Given the description of an element on the screen output the (x, y) to click on. 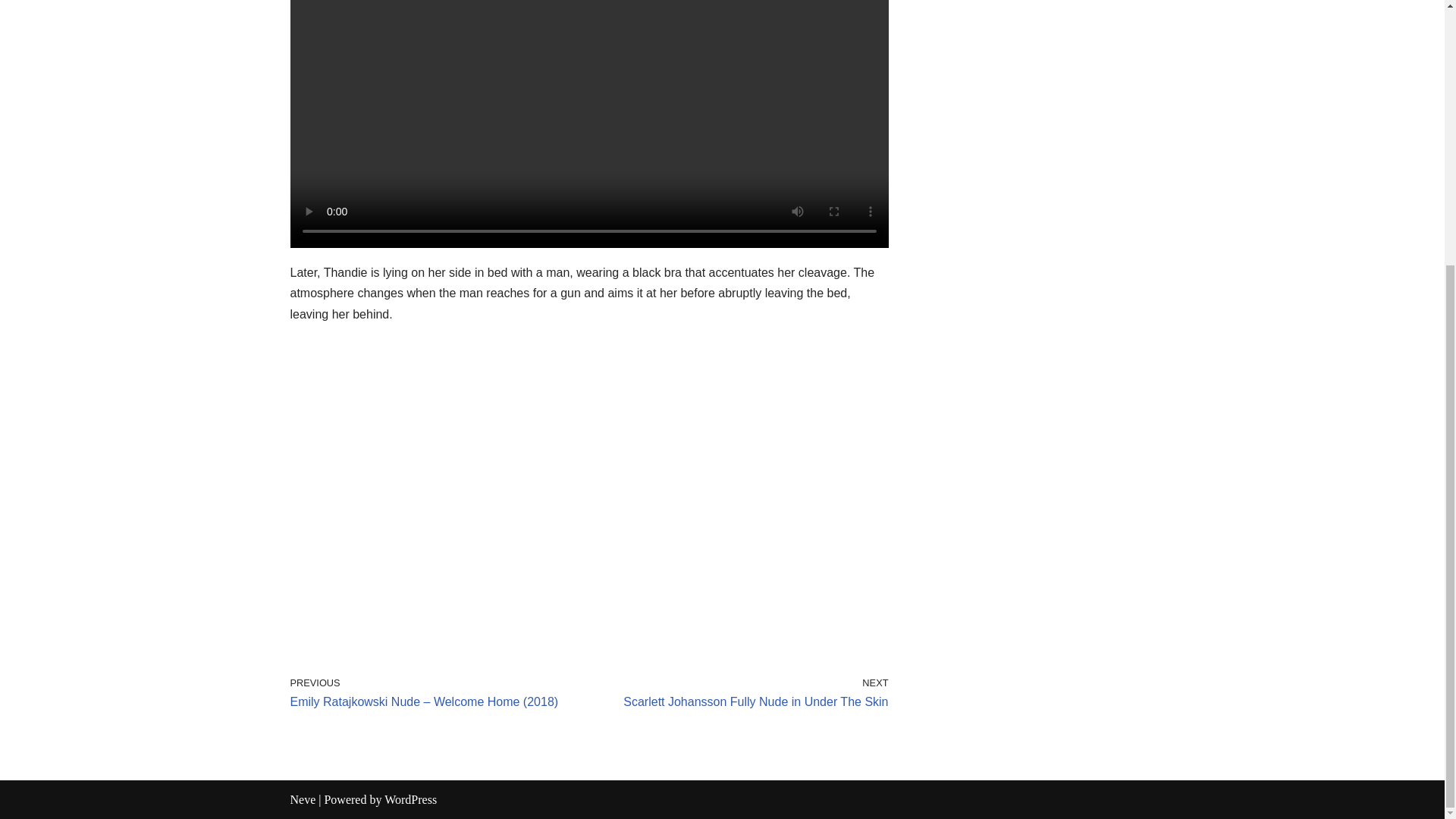
Neve (302, 799)
WordPress (410, 799)
